Given the description of an element on the screen output the (x, y) to click on. 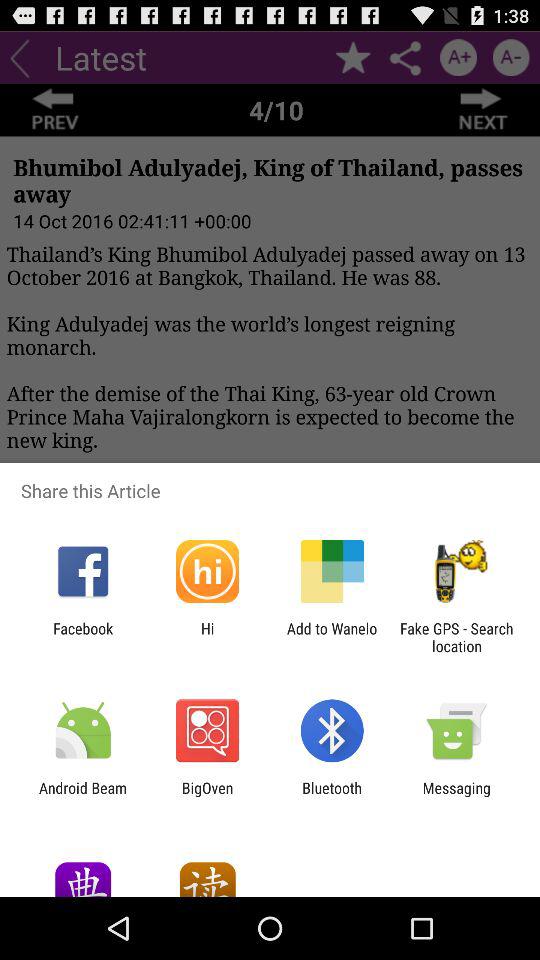
tap item next to the bluetooth (207, 796)
